Given the description of an element on the screen output the (x, y) to click on. 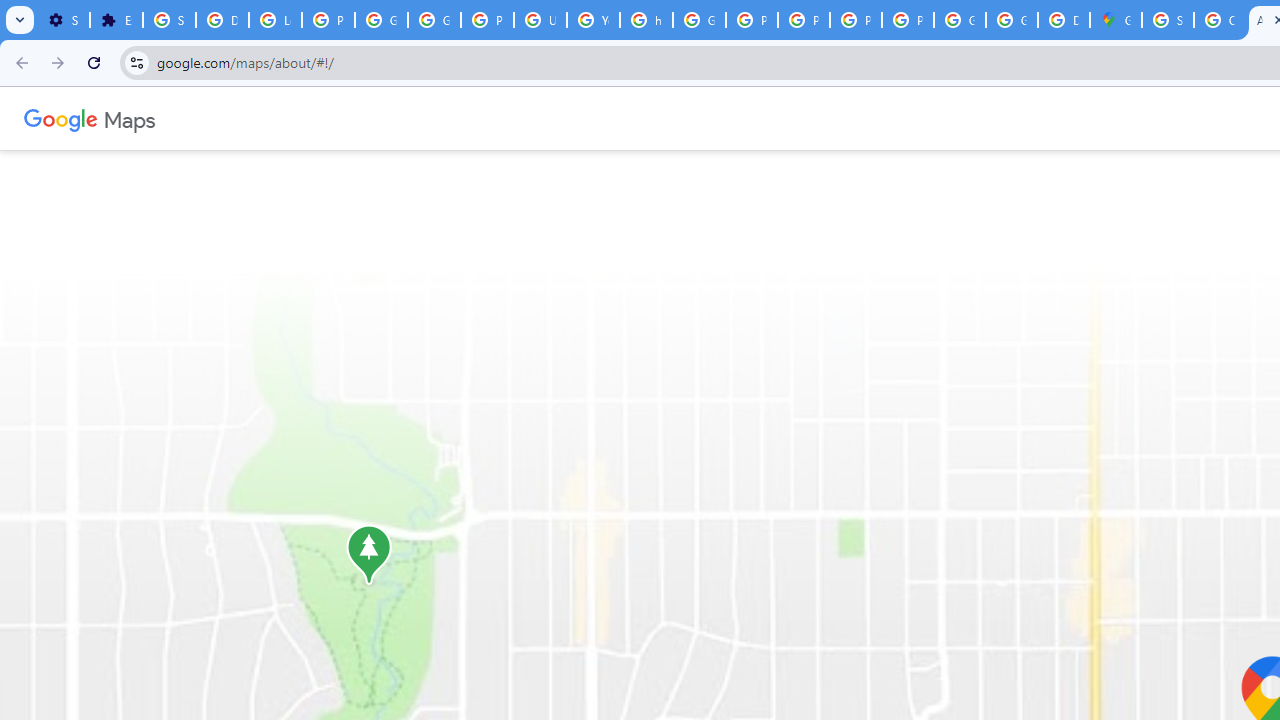
Extensions (116, 20)
Learn how to find your photos - Google Photos Help (275, 20)
Sign in - Google Accounts (169, 20)
https://scholar.google.com/ (646, 20)
Skip to Content (264, 115)
Settings - On startup (63, 20)
Google Maps (1115, 20)
